Given the description of an element on the screen output the (x, y) to click on. 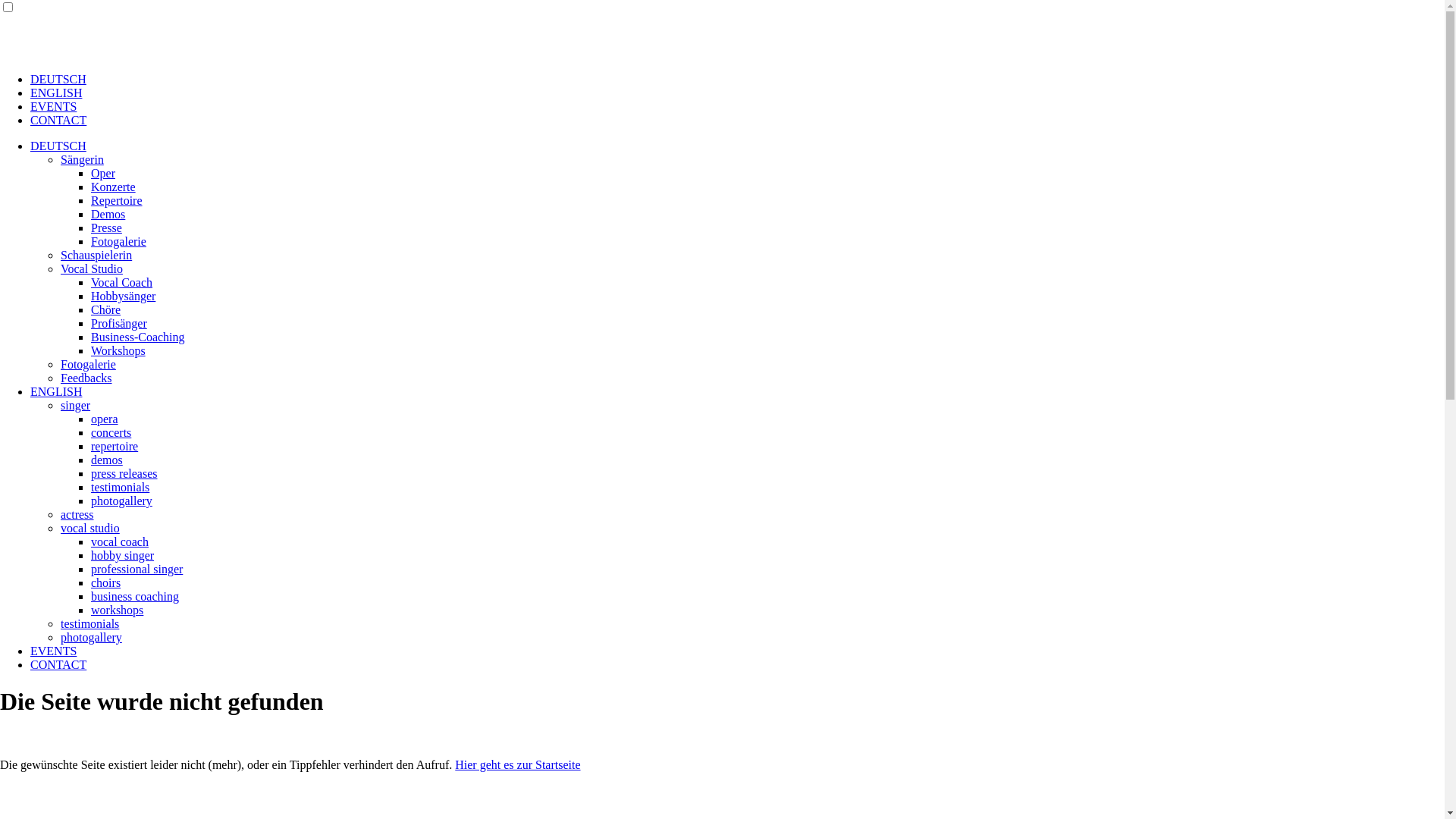
DEUTSCH Element type: text (58, 78)
Konzerte Element type: text (113, 186)
workshops Element type: text (117, 609)
choirs Element type: text (105, 582)
EVENTS Element type: text (53, 106)
CONTACT Element type: text (58, 119)
Business-Coaching Element type: text (138, 336)
ENGLISH Element type: text (55, 391)
singer Element type: text (75, 404)
Fotogalerie Element type: text (88, 363)
vocal coach Element type: text (119, 541)
demos Element type: text (106, 459)
business coaching Element type: text (134, 595)
Vocal Studio Element type: text (91, 268)
Feedbacks Element type: text (86, 377)
DEUTSCH Element type: text (58, 145)
Demos Element type: text (108, 213)
vocal studio Element type: text (89, 527)
Presse Element type: text (106, 227)
repertoire Element type: text (114, 445)
photogallery Element type: text (121, 500)
professional singer Element type: text (136, 568)
actress Element type: text (77, 514)
opera Element type: text (104, 418)
Workshops Element type: text (118, 350)
EVENTS Element type: text (53, 650)
Oper Element type: text (103, 172)
Fotogalerie Element type: text (118, 241)
Hier geht es zur Startseite Element type: text (517, 764)
Vocal Coach Element type: text (121, 282)
hobby singer Element type: text (122, 555)
CONTACT Element type: text (58, 664)
testimonials Element type: text (89, 623)
press releases Element type: text (124, 473)
testimonials Element type: text (120, 486)
ENGLISH Element type: text (55, 92)
concerts Element type: text (111, 432)
photogallery Element type: text (91, 636)
Repertoire Element type: text (116, 200)
Schauspielerin Element type: text (95, 254)
